Given the description of an element on the screen output the (x, y) to click on. 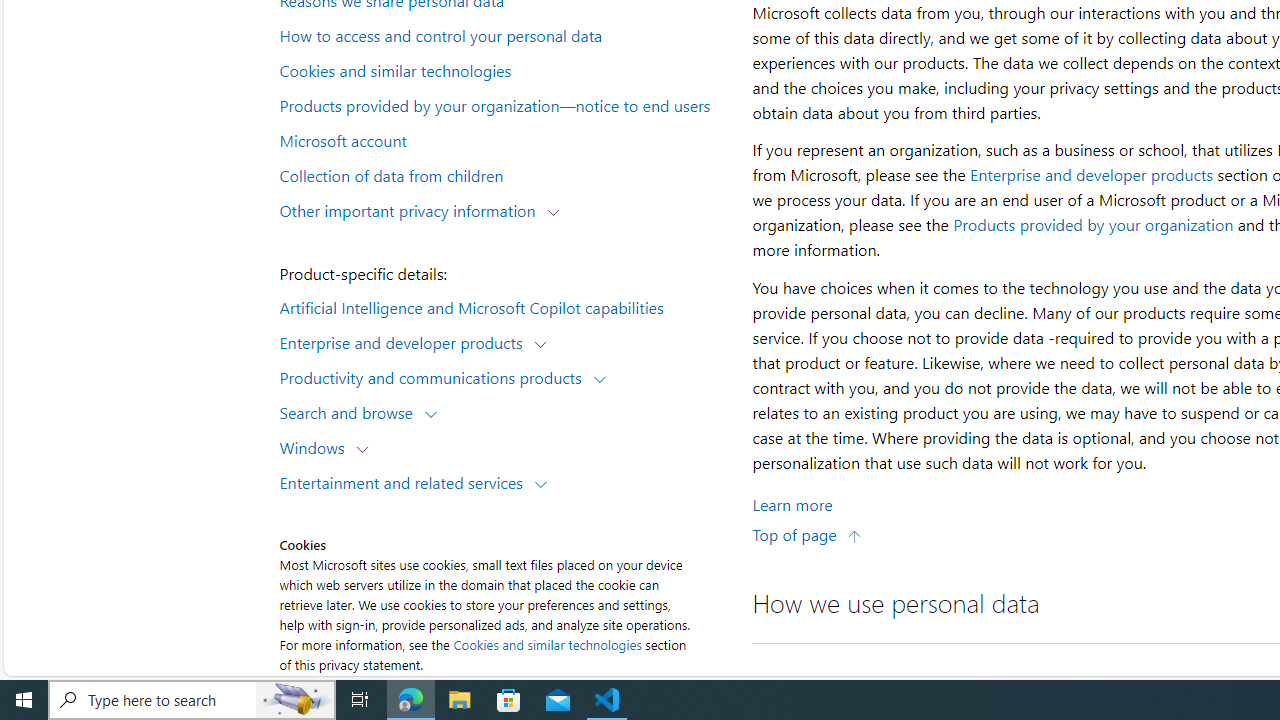
Cookies and similar technologies (547, 644)
Productivity and communications products (435, 376)
Learn More about Personal data we collect (792, 504)
Microsoft account (504, 139)
Other important privacy information (412, 209)
Enterprise and developer products (1091, 174)
Cookies and similar technologies (504, 69)
Products provided by your organization (1093, 224)
Entertainment and related services (405, 481)
Enterprise and developer products (405, 341)
Artificial Intelligence and Microsoft Copilot capabilities (504, 306)
Collection of data from children (504, 174)
Windows (316, 446)
How to access and control your personal data (504, 35)
